Given the description of an element on the screen output the (x, y) to click on. 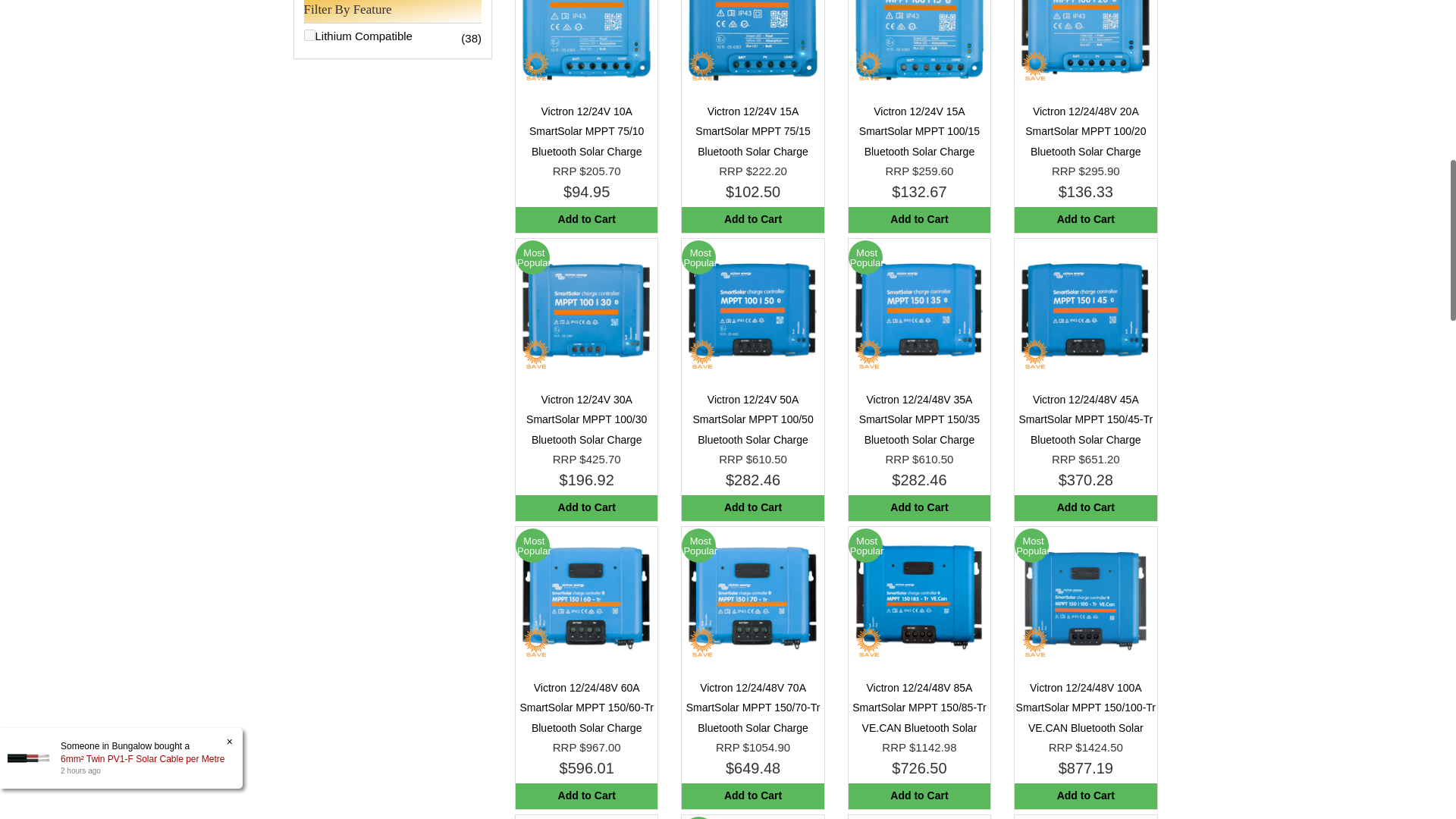
935 (308, 34)
